Given the description of an element on the screen output the (x, y) to click on. 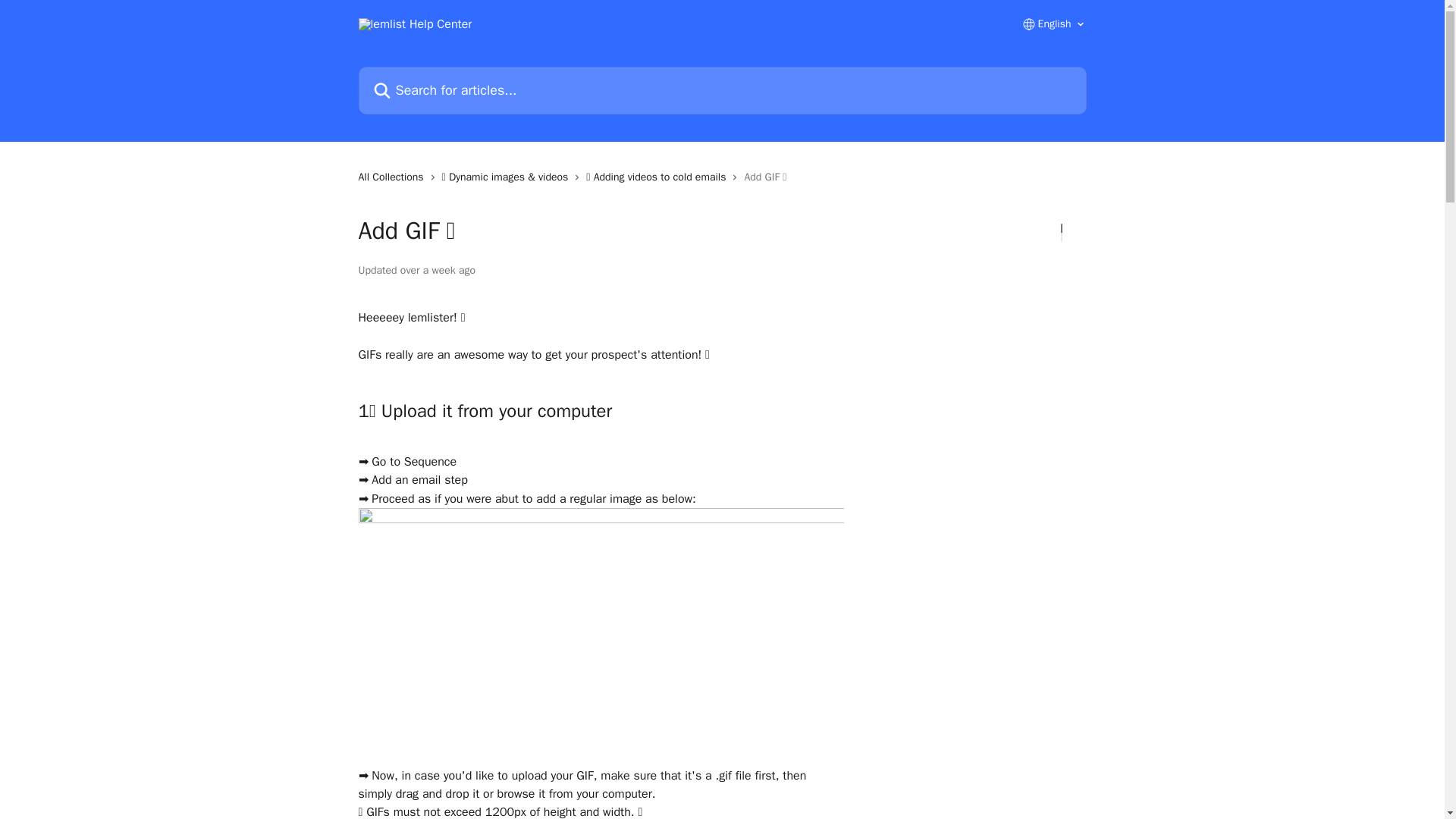
All Collections (393, 176)
